Given the description of an element on the screen output the (x, y) to click on. 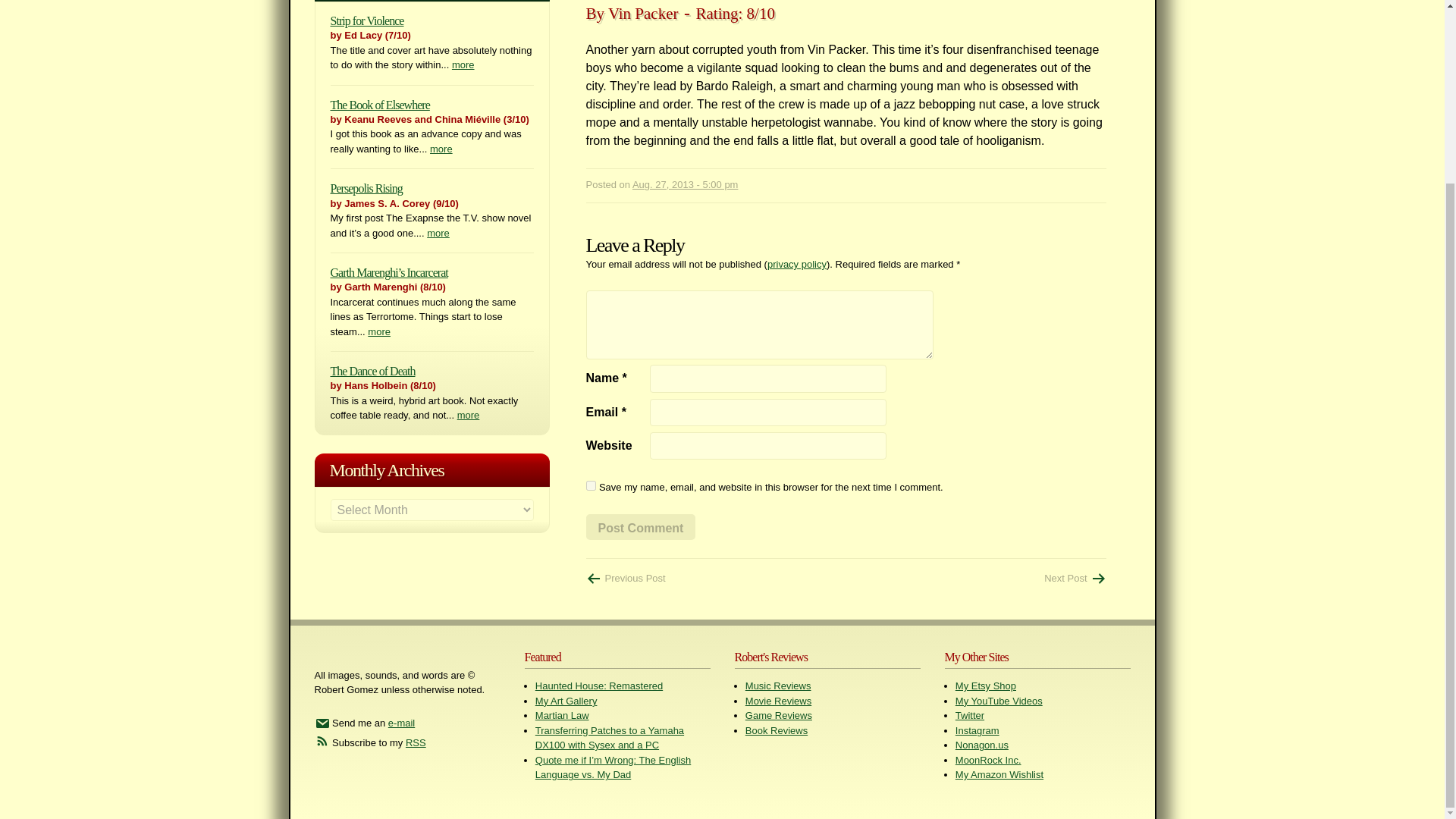
Post Comment (640, 526)
Videodrome (1074, 578)
yes (590, 485)
